Given the description of an element on the screen output the (x, y) to click on. 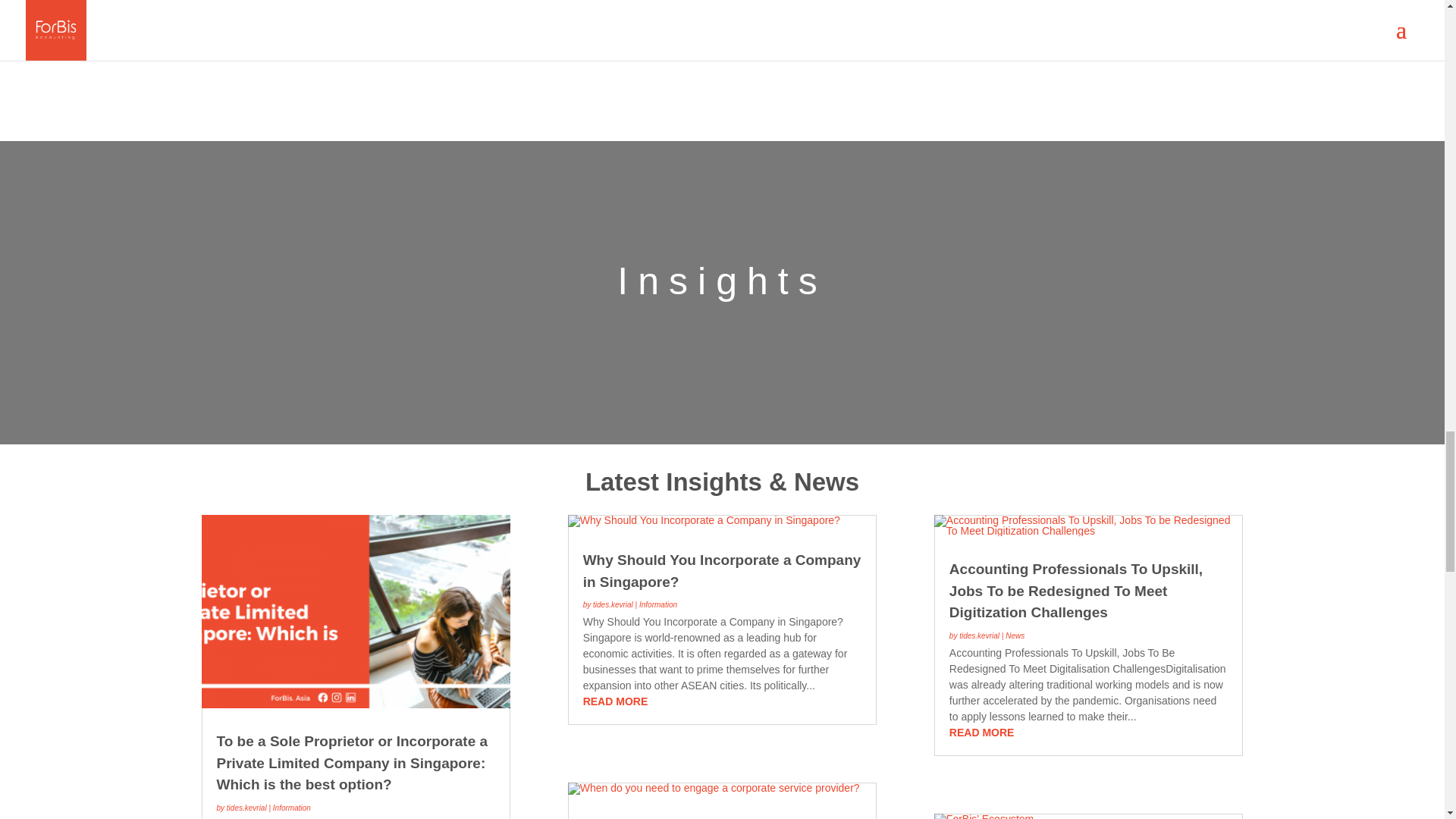
Information (292, 807)
tides.kevrial (246, 807)
Posts by tides.kevrial (246, 807)
